Given the description of an element on the screen output the (x, y) to click on. 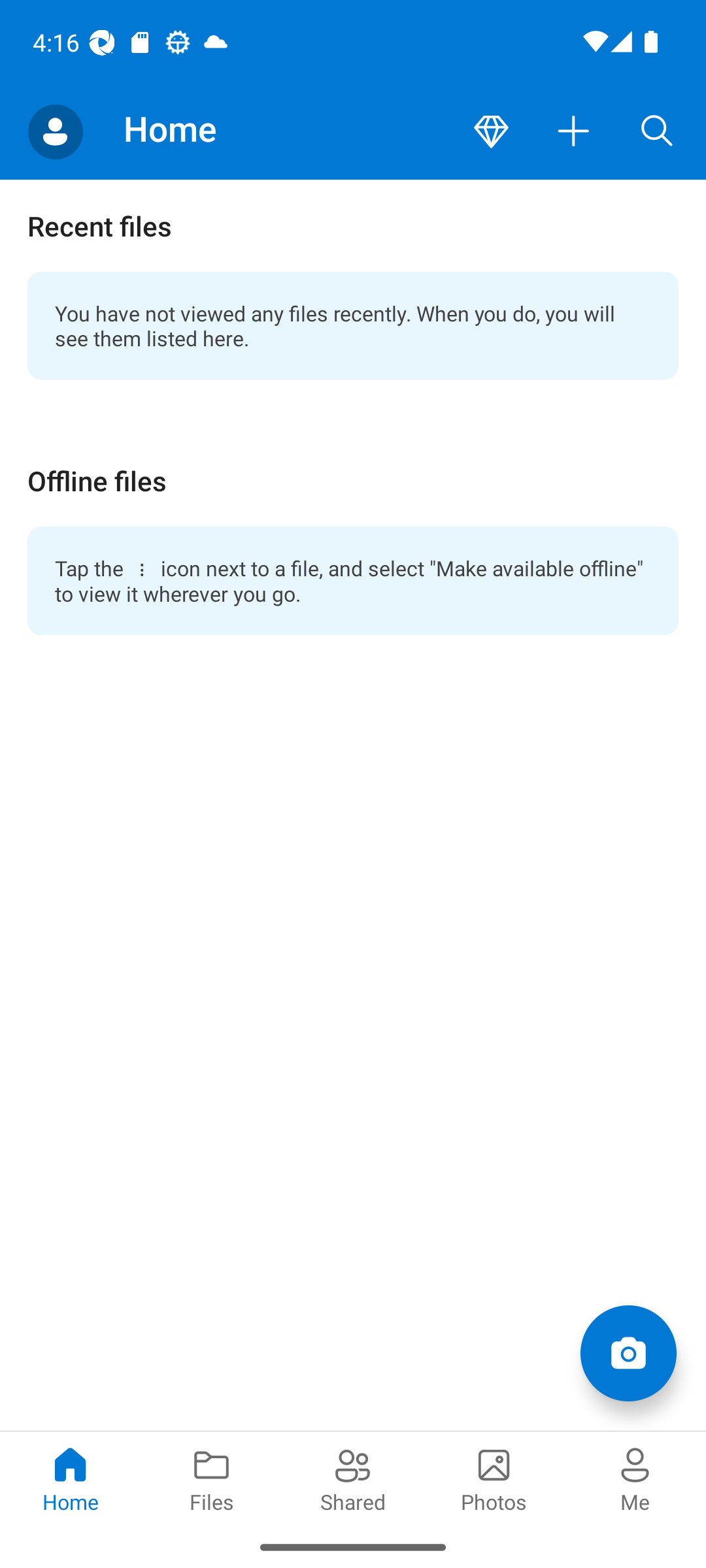
Account switcher (55, 131)
Premium button (491, 131)
More actions button (574, 131)
Search button (656, 131)
Scan (628, 1352)
Files pivot Files (211, 1478)
Shared pivot Shared (352, 1478)
Photos pivot Photos (493, 1478)
Me pivot Me (635, 1478)
